Given the description of an element on the screen output the (x, y) to click on. 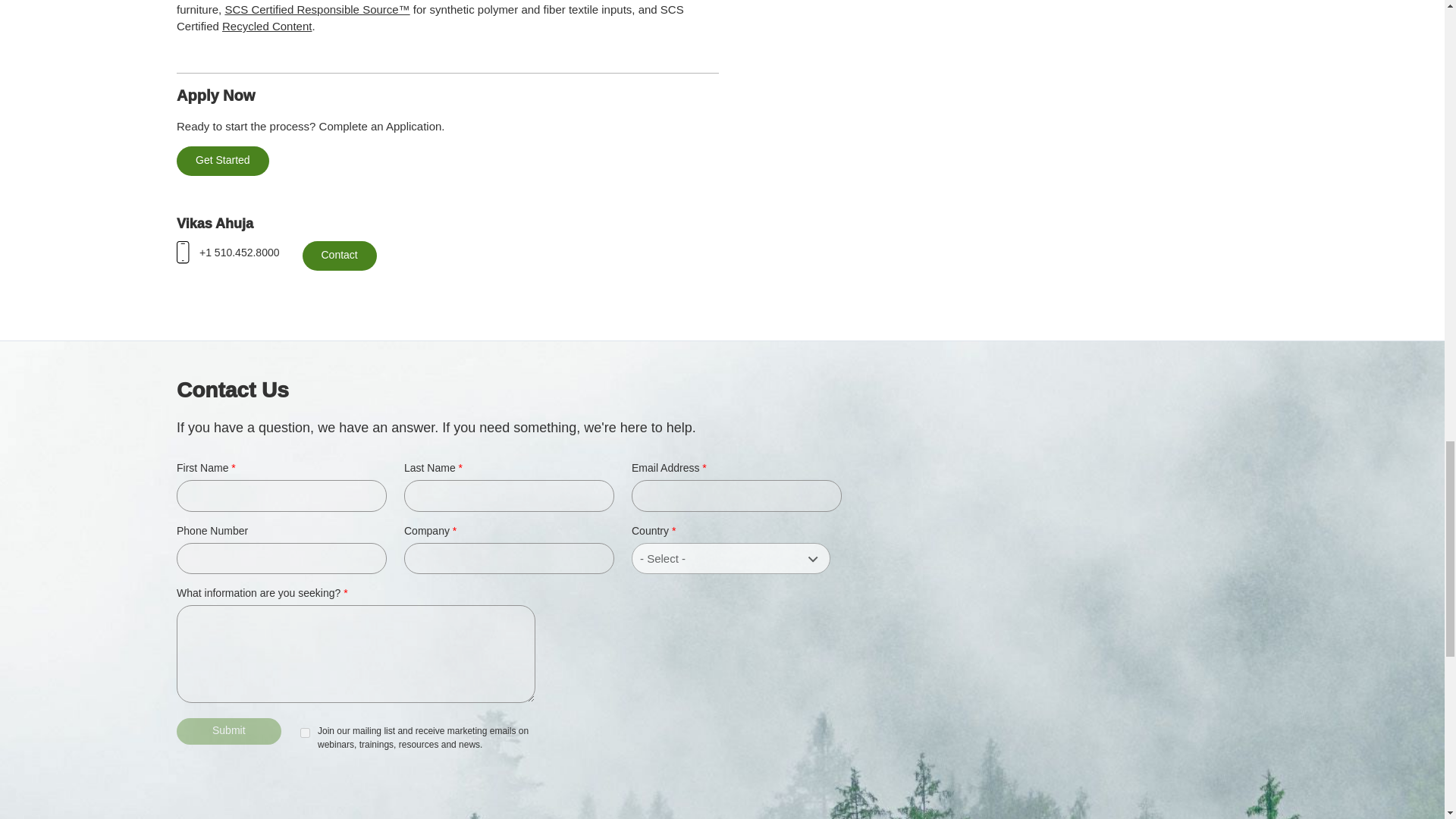
Yes (304, 732)
Submit (228, 731)
